Given the description of an element on the screen output the (x, y) to click on. 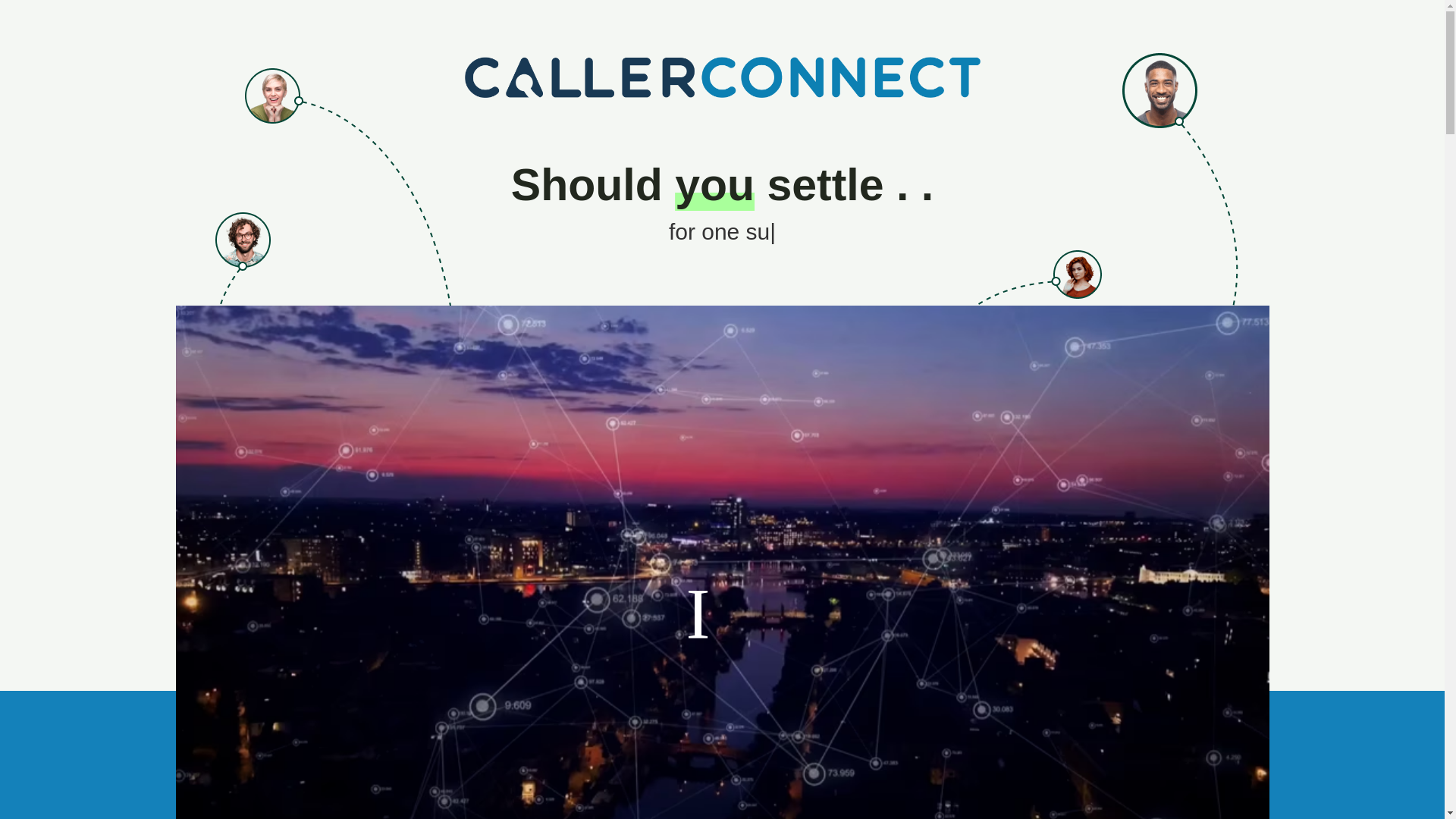
CallerConnect (721, 76)
